Given the description of an element on the screen output the (x, y) to click on. 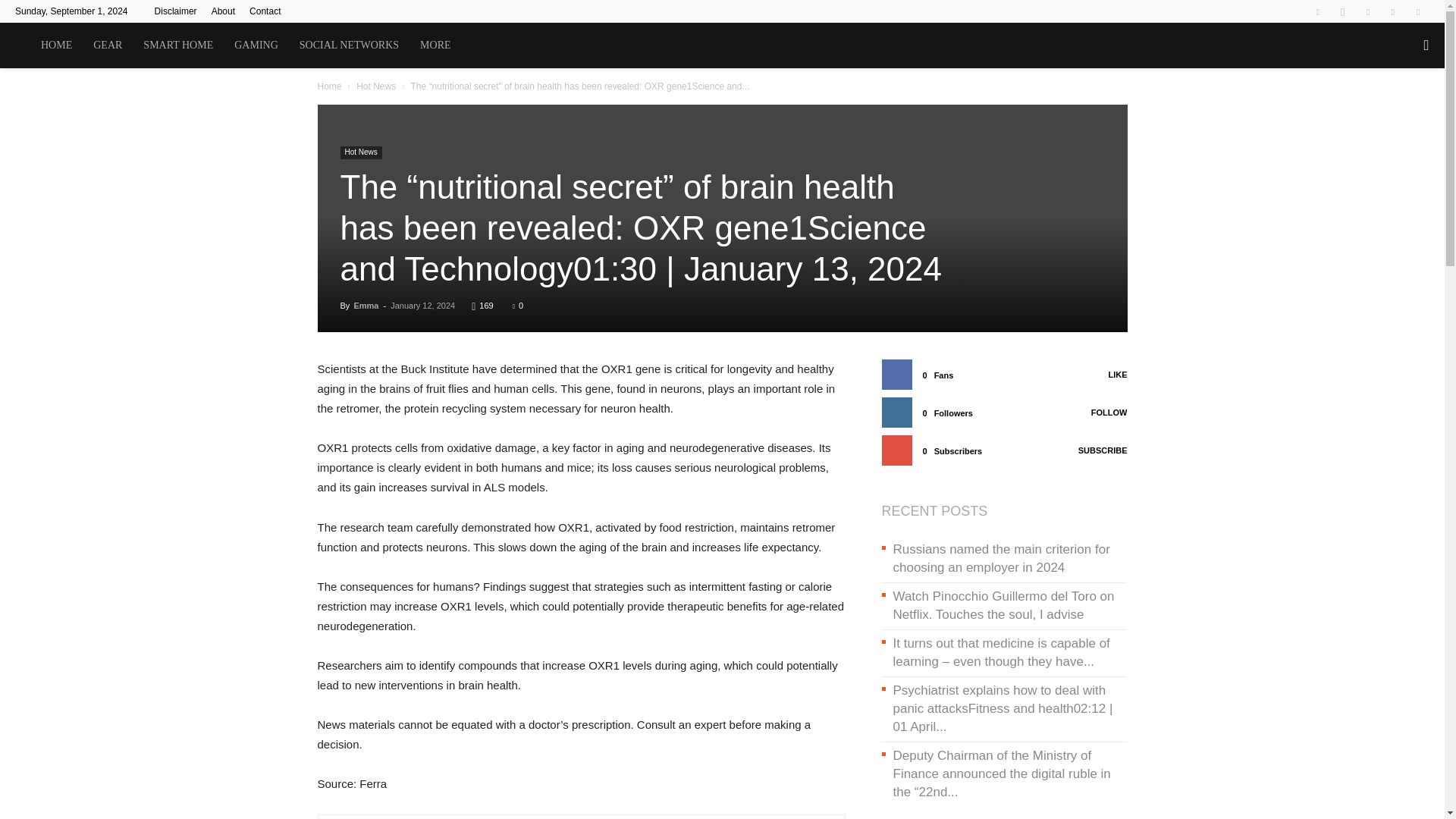
Disclaimer (175, 10)
Contact (264, 10)
Vimeo (1393, 11)
Twitter (1367, 11)
Instagram (1343, 11)
HOME (56, 44)
Youtube (1417, 11)
Facebook (1317, 11)
About (222, 10)
GEAR (107, 44)
